Given the description of an element on the screen output the (x, y) to click on. 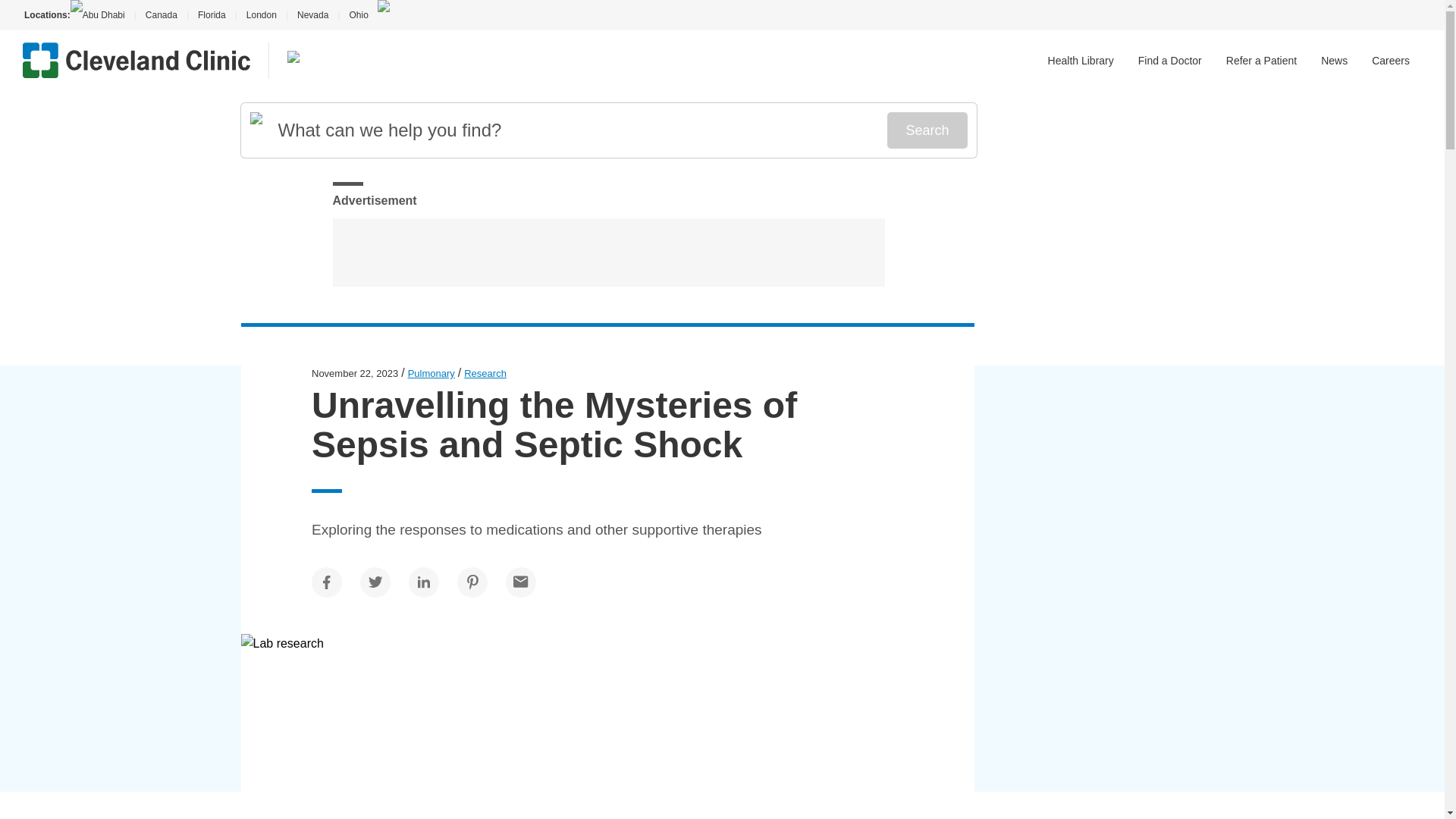
Ohio (358, 15)
News (1334, 60)
Pulmonary (430, 373)
Florida (211, 15)
Careers (1390, 60)
Abu Dhabi (101, 15)
Health Library (1080, 60)
Nevada (312, 15)
Find a Doctor (1170, 60)
Refer a Patient (1261, 60)
London (261, 15)
Research (485, 373)
Canada (161, 15)
